Given the description of an element on the screen output the (x, y) to click on. 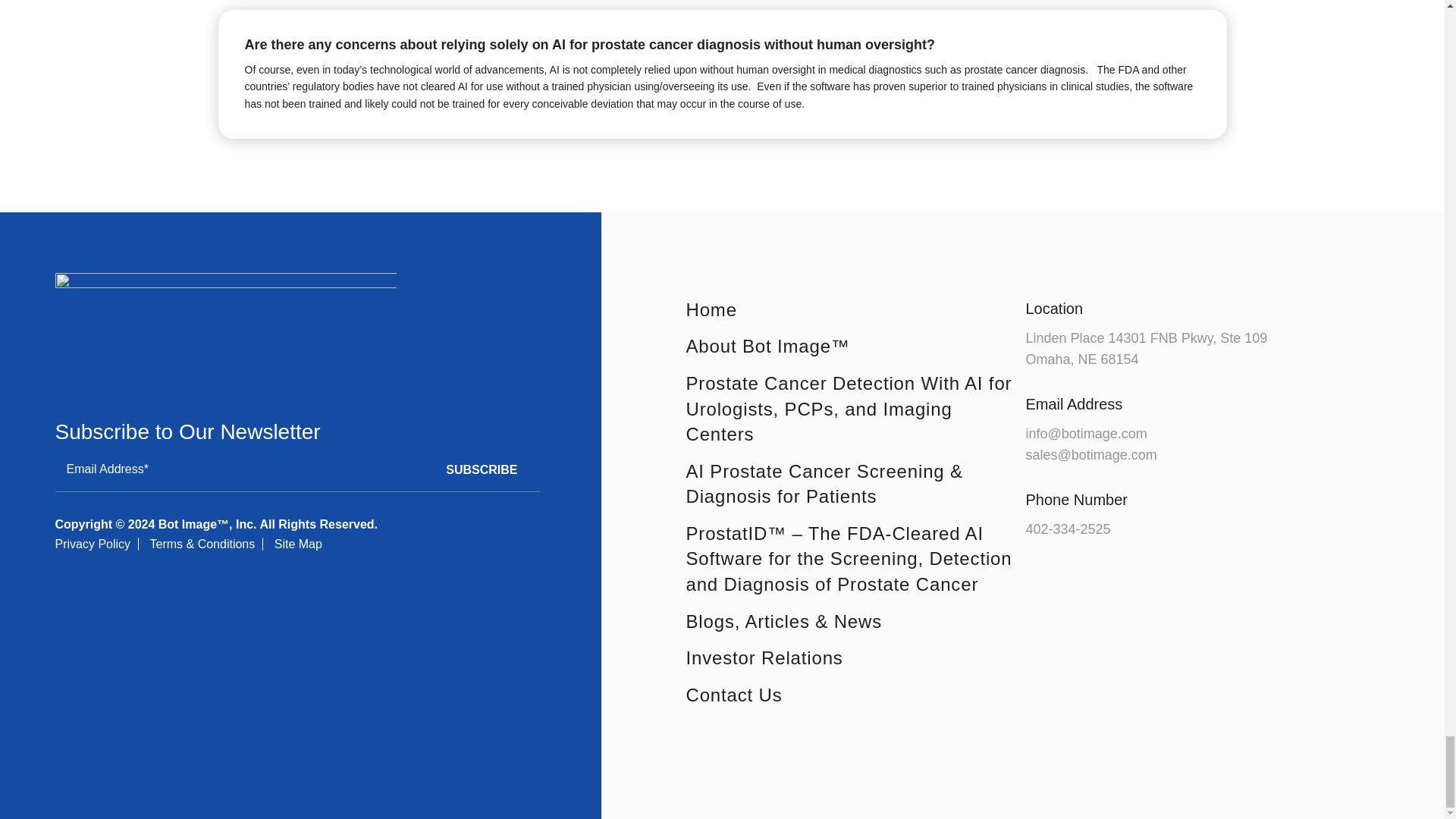
Subscribe (481, 469)
Subscribe (481, 469)
Privacy Policy (93, 543)
Home (855, 309)
BotImageAI (225, 326)
Site Map (298, 543)
